Given the description of an element on the screen output the (x, y) to click on. 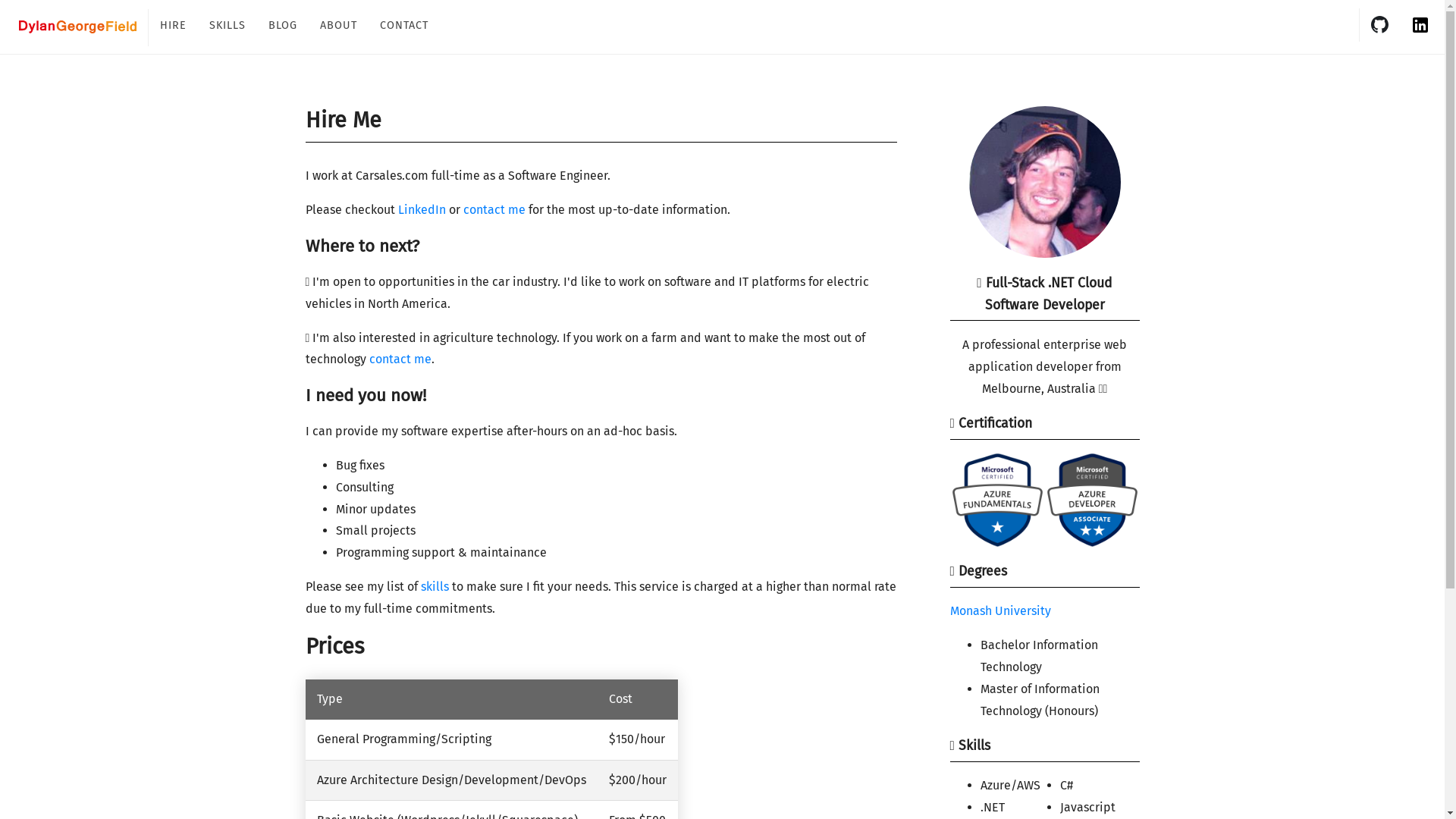
SKILLS Element type: text (227, 26)
contact me Element type: text (399, 358)
LinkedIn Element type: text (421, 209)
BLOG Element type: text (282, 26)
HIRE Element type: text (172, 26)
Monash University Element type: text (999, 610)
ABOUT Element type: text (338, 26)
skills Element type: text (434, 586)
CONTACT Element type: text (403, 26)
contact me Element type: text (493, 209)
